Given the description of an element on the screen output the (x, y) to click on. 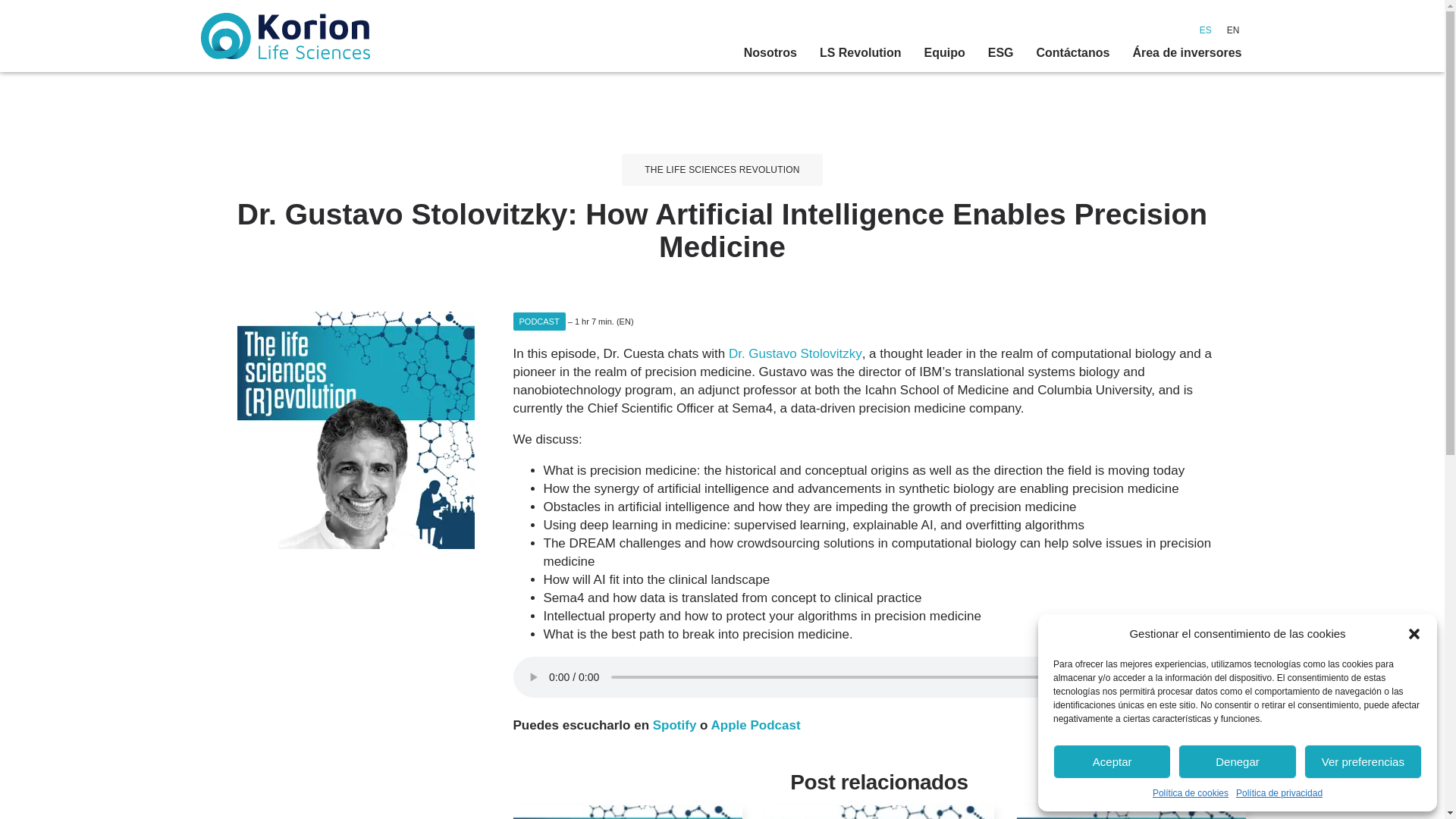
ES (1206, 30)
ESG (1000, 52)
Equipo (943, 52)
Denegar (1236, 761)
Nosotros (770, 52)
LS Revolution (860, 52)
Aceptar (1111, 761)
EN (1233, 30)
Ver preferencias (1363, 761)
